Given the description of an element on the screen output the (x, y) to click on. 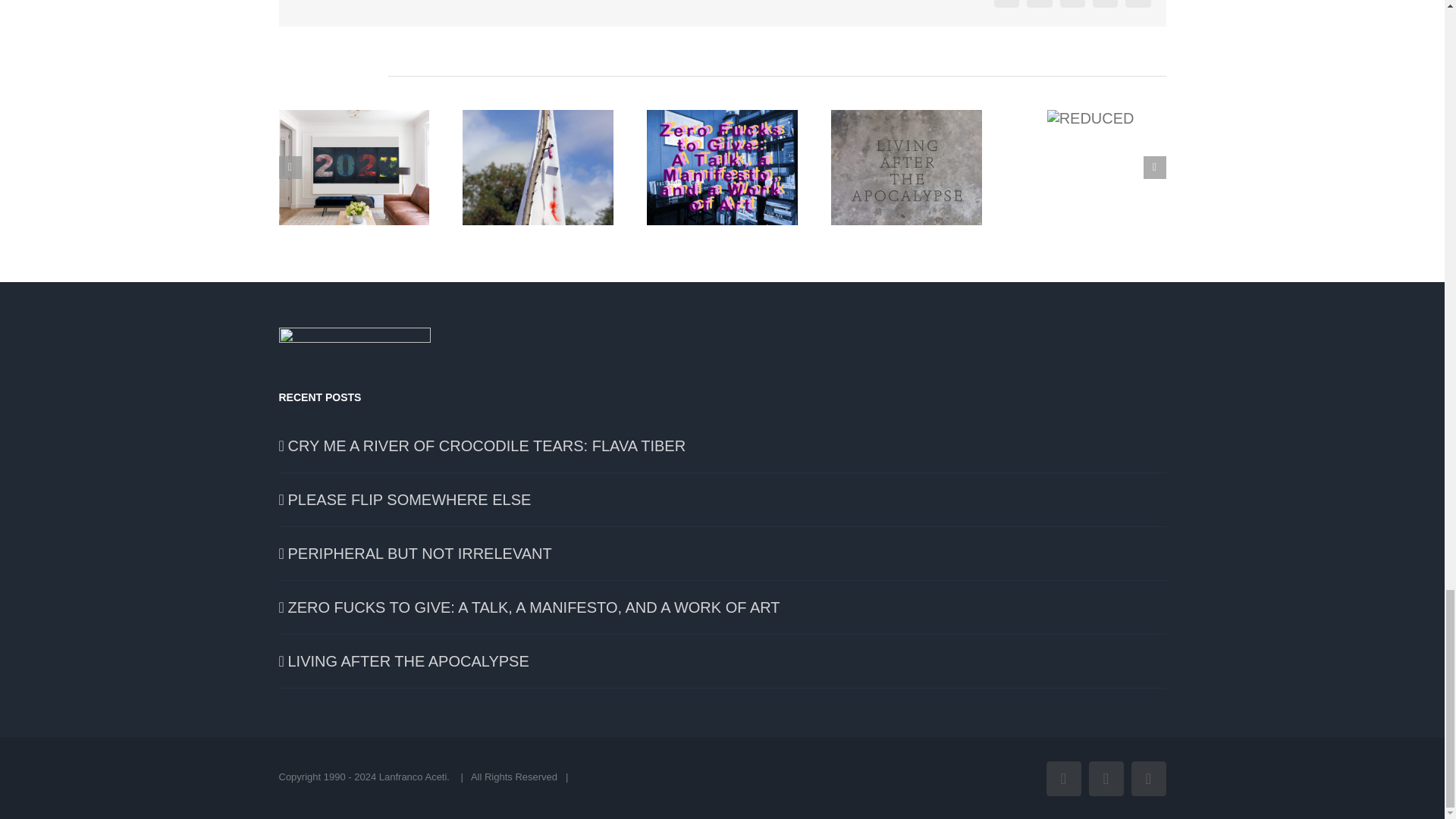
PLEASE FLIP SOMEWHERE ELSE (723, 499)
LinkedIn (1071, 3)
PERIPHERAL BUT NOT IRRELEVANT (723, 553)
X (1106, 778)
WhatsApp (1105, 3)
Facebook (1006, 3)
LIVING AFTER THE APOCALYPSE (723, 661)
LinkedIn (1071, 3)
Instagram (1148, 778)
CRY ME A RIVER OF CROCODILE TEARS: FLAVA TIBER (723, 445)
Facebook (1063, 778)
X (1038, 3)
Email (1137, 3)
WhatsApp (1105, 3)
Email (1137, 3)
